Given the description of an element on the screen output the (x, y) to click on. 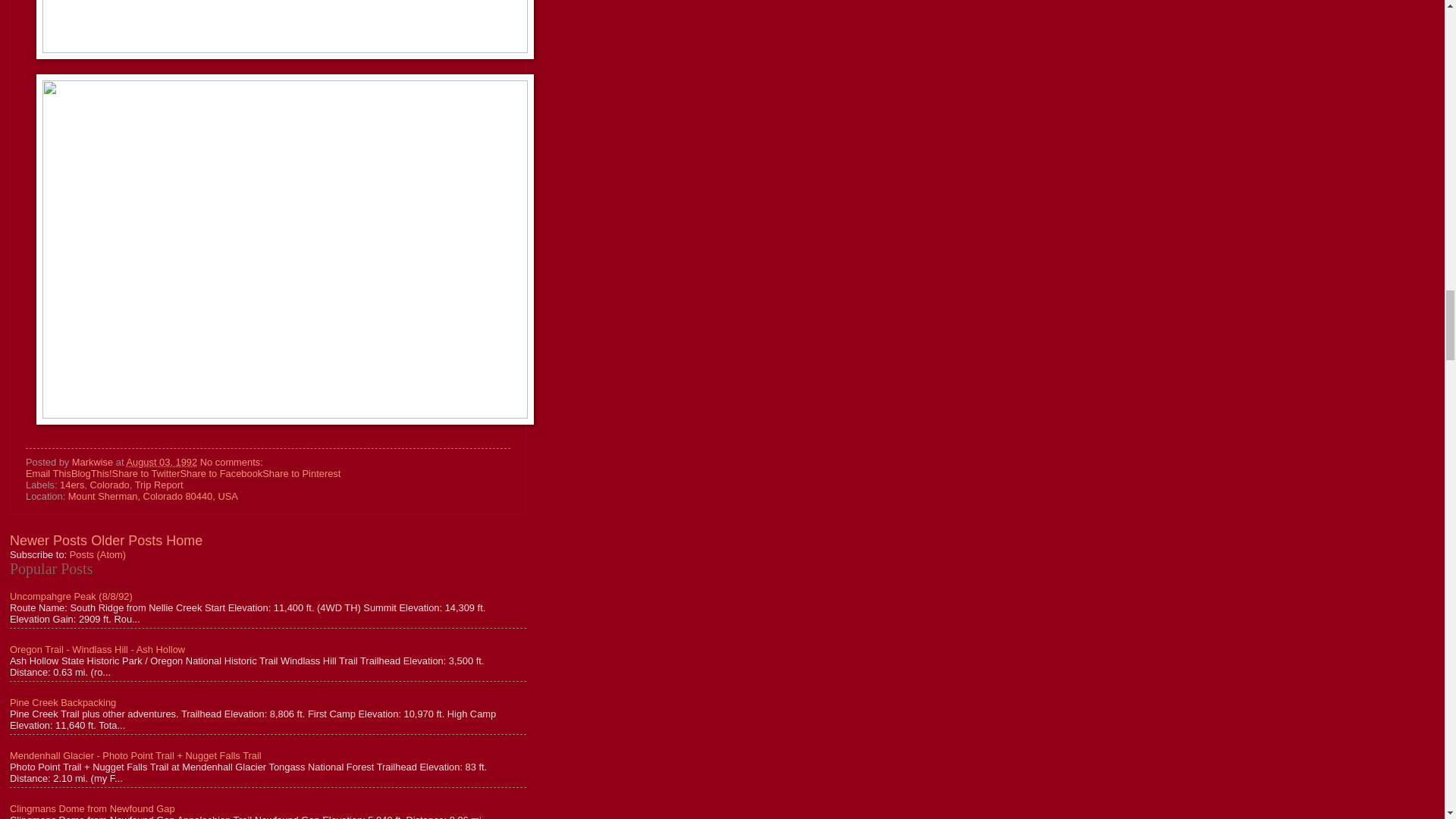
Newer Posts (48, 540)
Email This (48, 473)
permanent link (160, 461)
Share to Pinterest (301, 473)
author profile (93, 461)
Share to Facebook (220, 473)
Share to Twitter (146, 473)
BlogThis! (91, 473)
Home (183, 540)
Markwise (93, 461)
BlogThis! (91, 473)
Newer Posts (48, 540)
Mount Sherman, Colorado 80440, USA (153, 496)
August 03, 1992 (160, 461)
Share to Facebook (220, 473)
